Given the description of an element on the screen output the (x, y) to click on. 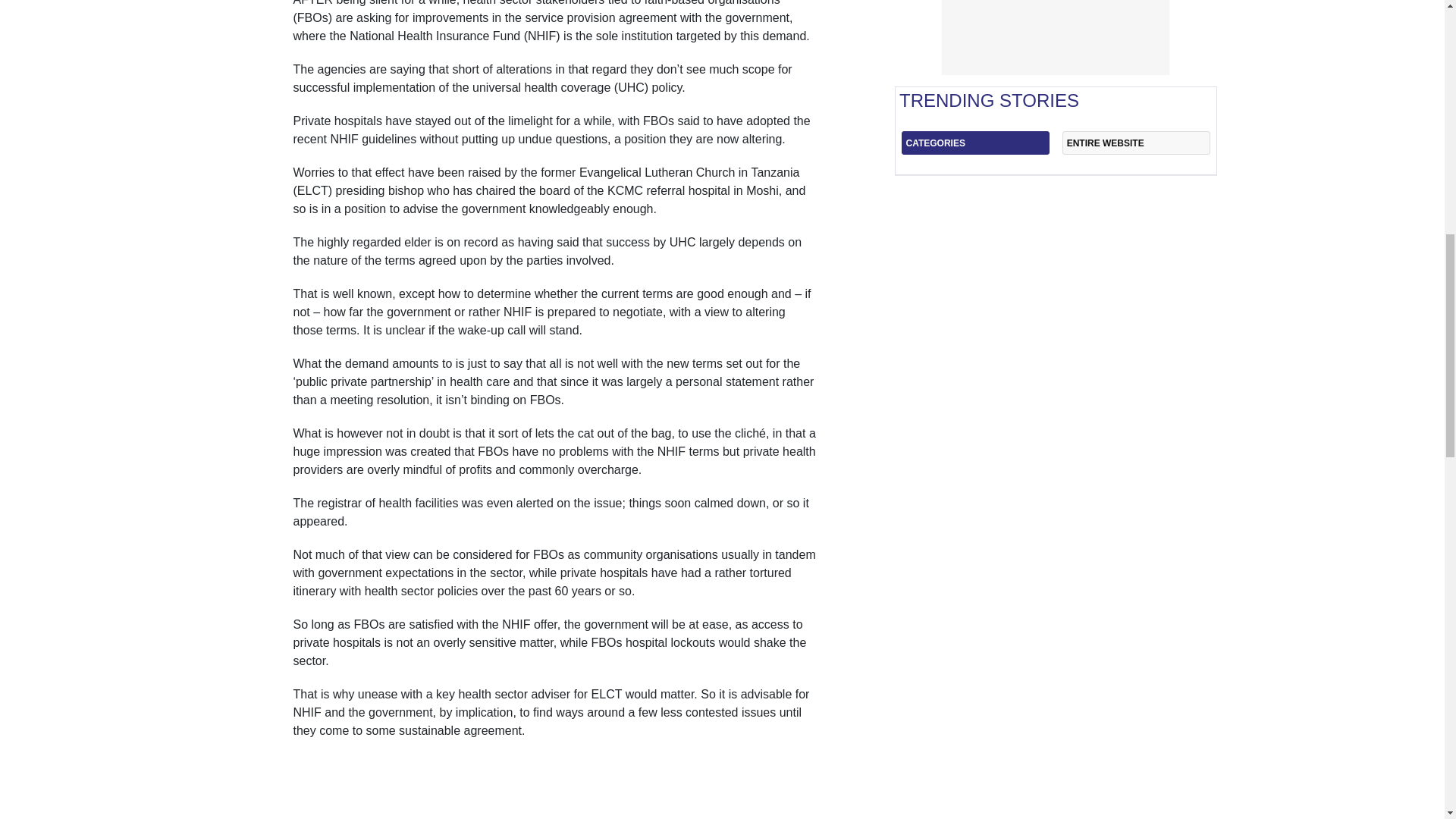
Advertisement (1055, 37)
